Given the description of an element on the screen output the (x, y) to click on. 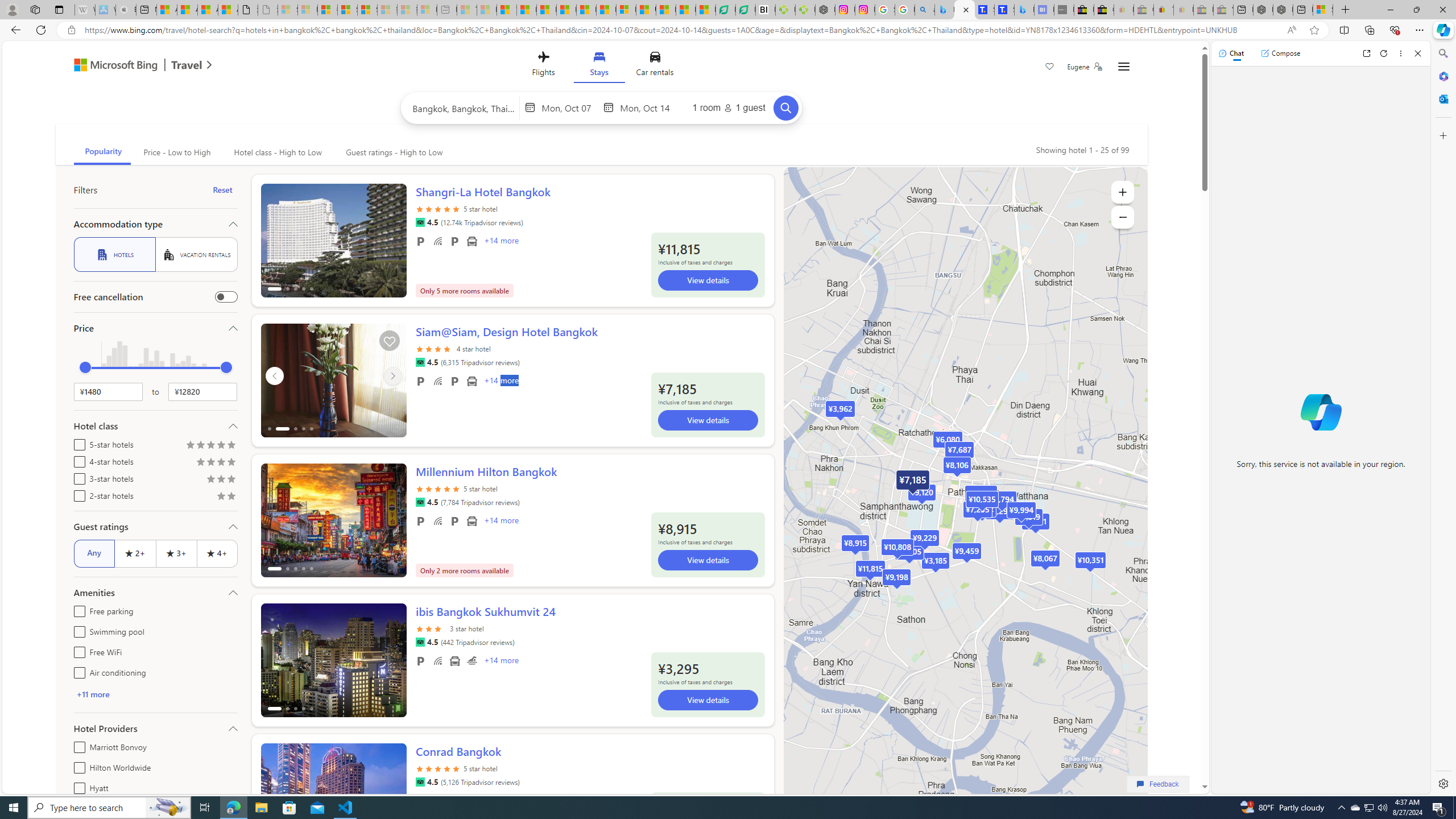
1 room1 guest (728, 107)
Food and Drink - MSN (526, 9)
3-star hotels (76, 476)
Swimming pool (471, 660)
4-star hotels (76, 459)
Save to collections (389, 340)
Payments Terms of Use | eBay.com - Sleeping (1183, 9)
Hilton Worldwide (76, 765)
Threats and offensive language policy | eBay (1162, 9)
Microsoft account | Account Checkup - Sleeping (427, 9)
